Given the description of an element on the screen output the (x, y) to click on. 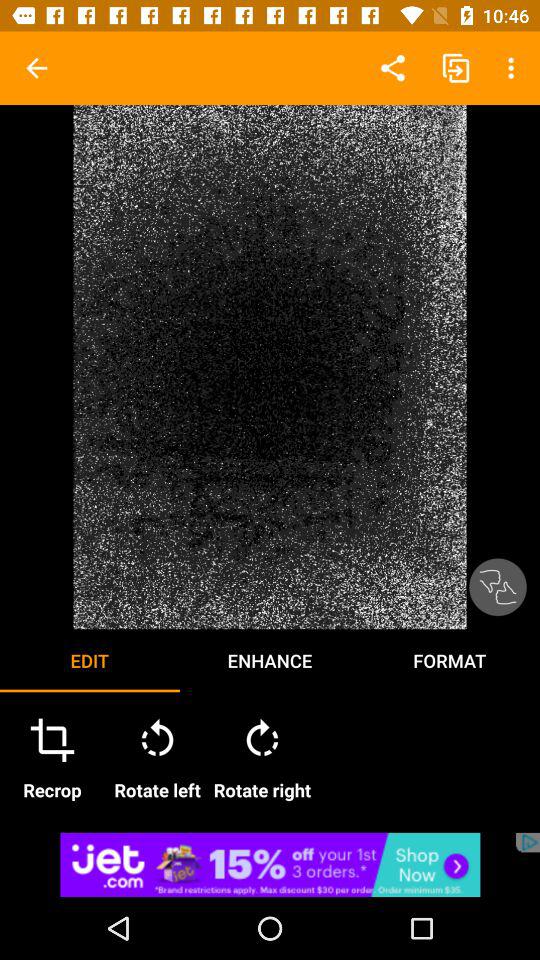
open advertisement (270, 864)
